Given the description of an element on the screen output the (x, y) to click on. 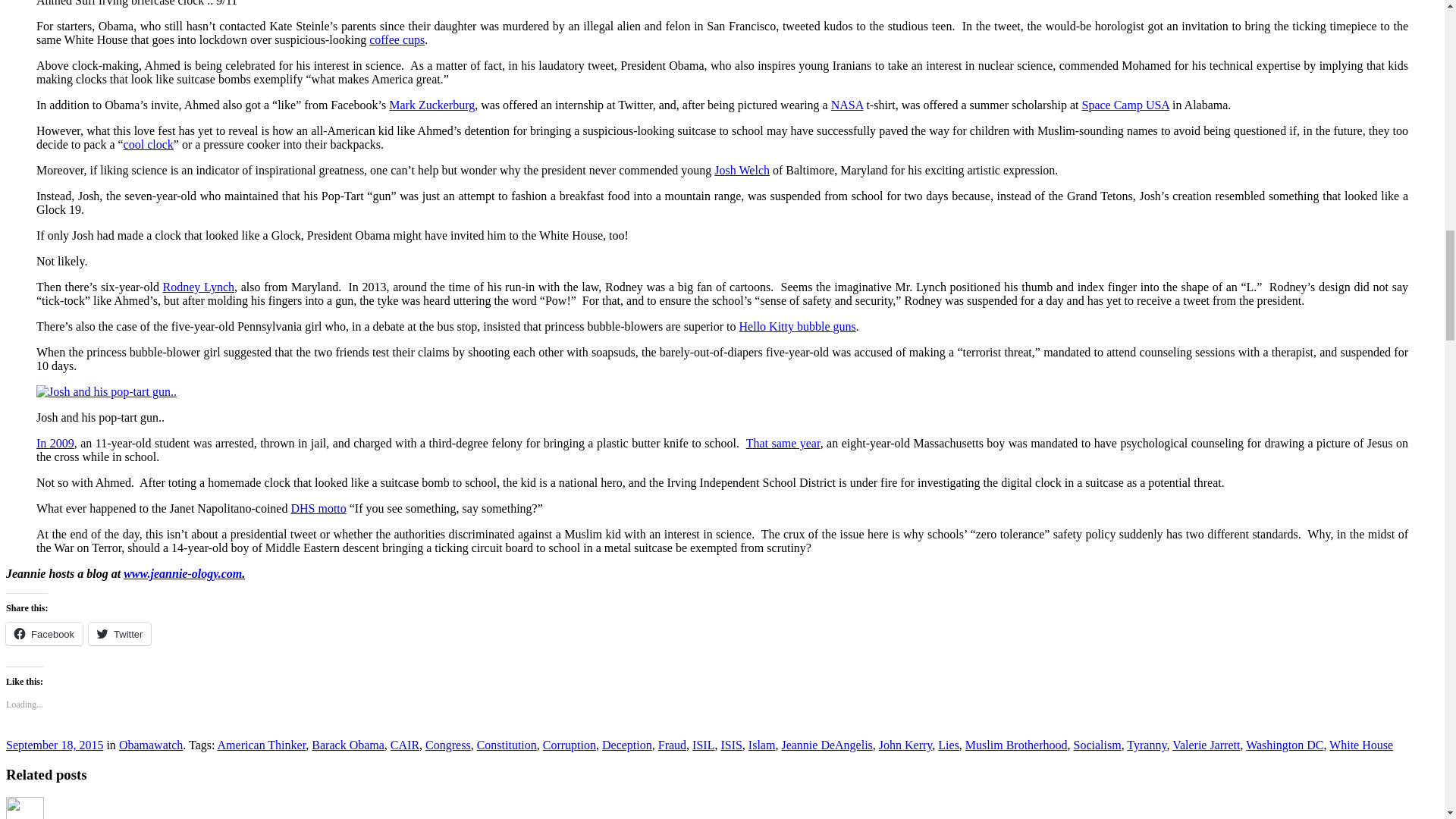
Click to share on Facebook (43, 633)
Mark Zuckerburg (431, 104)
Hello Kitty bubble guns (797, 326)
Rodney Lynch (198, 286)
cool clock (148, 144)
Click to share on Twitter (119, 633)
Josh Welch (742, 169)
Space Camp USA (1125, 104)
coffee cups (397, 39)
NASA (847, 104)
